Given the description of an element on the screen output the (x, y) to click on. 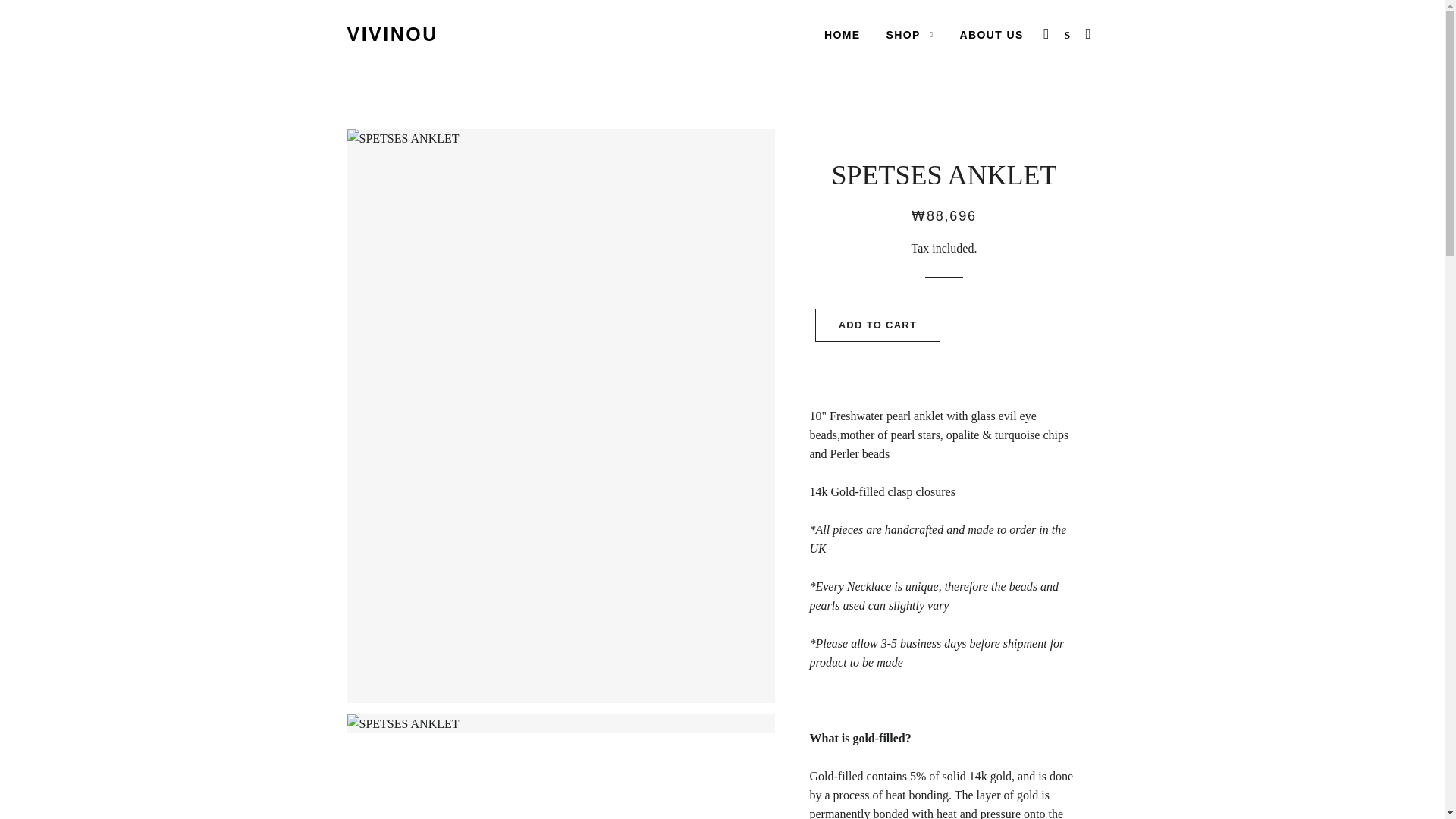
SHOP (909, 35)
ABOUT US (990, 35)
VIVINOU (392, 34)
HOME (842, 35)
ADD TO CART (877, 325)
